Given the description of an element on the screen output the (x, y) to click on. 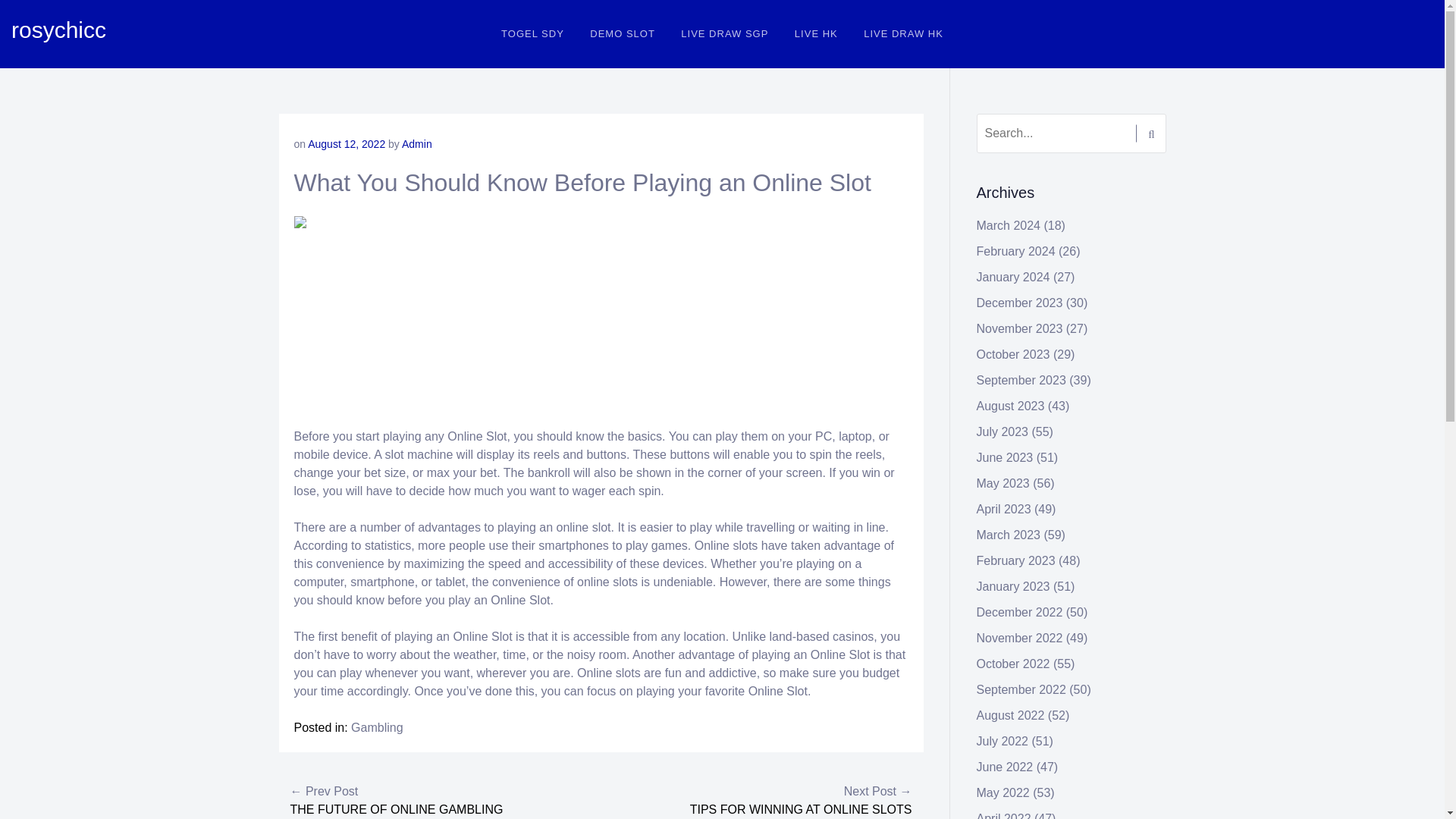
LIVE DRAW SGP (723, 33)
January 2023 (1012, 585)
August 2023 (1010, 405)
August 12, 2022 (346, 143)
May 2023 (1002, 482)
November 2023 (1019, 328)
June 2023 (1004, 457)
LIVE HK (815, 33)
December 2022 (1019, 612)
October 2023 (1012, 354)
